Given the description of an element on the screen output the (x, y) to click on. 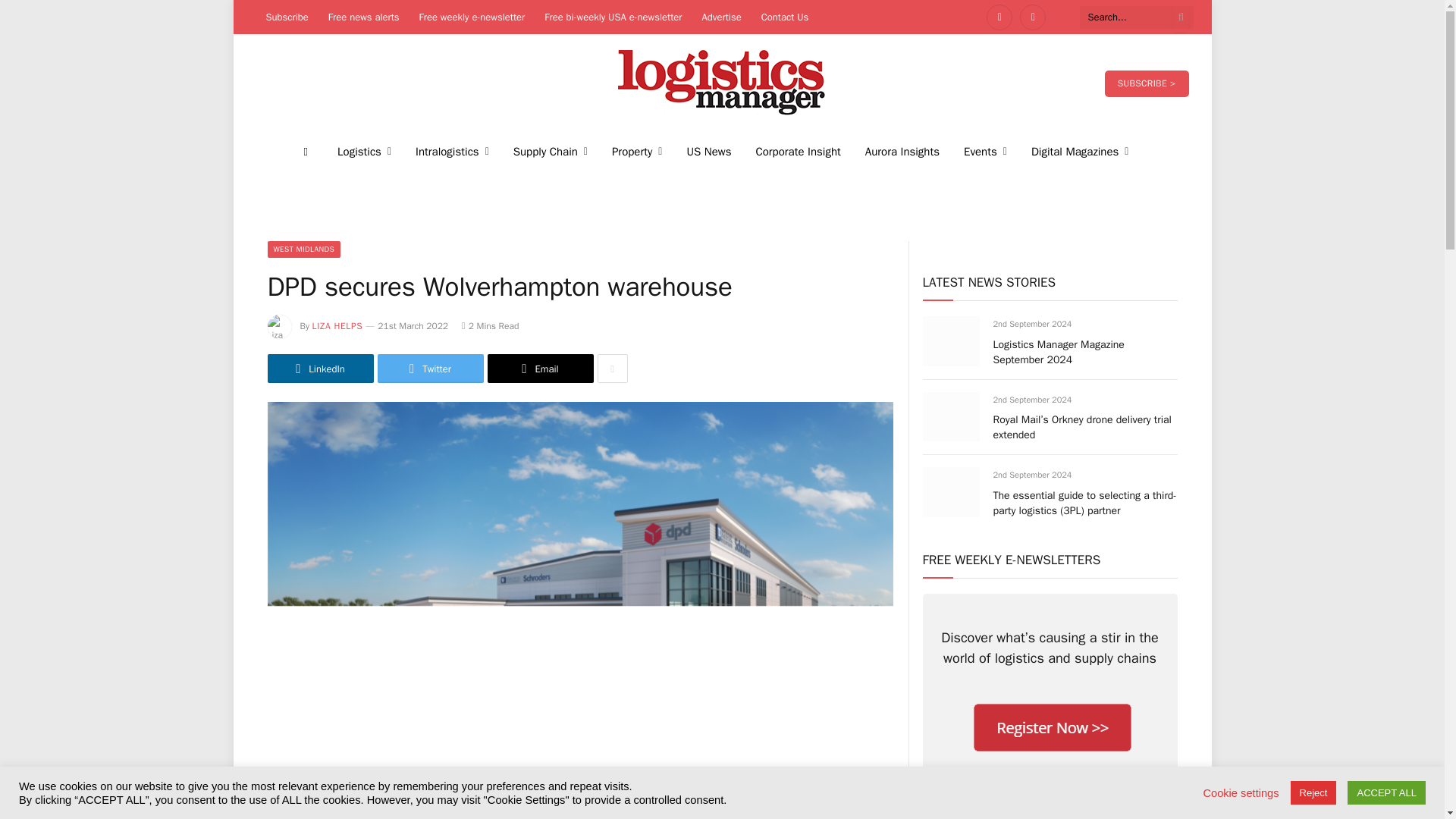
Posts by Liza Helps (337, 326)
Show More Social Sharing (611, 368)
Share via Email (539, 368)
Share on LinkedIn (319, 368)
Logistics Manager (722, 83)
